Given the description of an element on the screen output the (x, y) to click on. 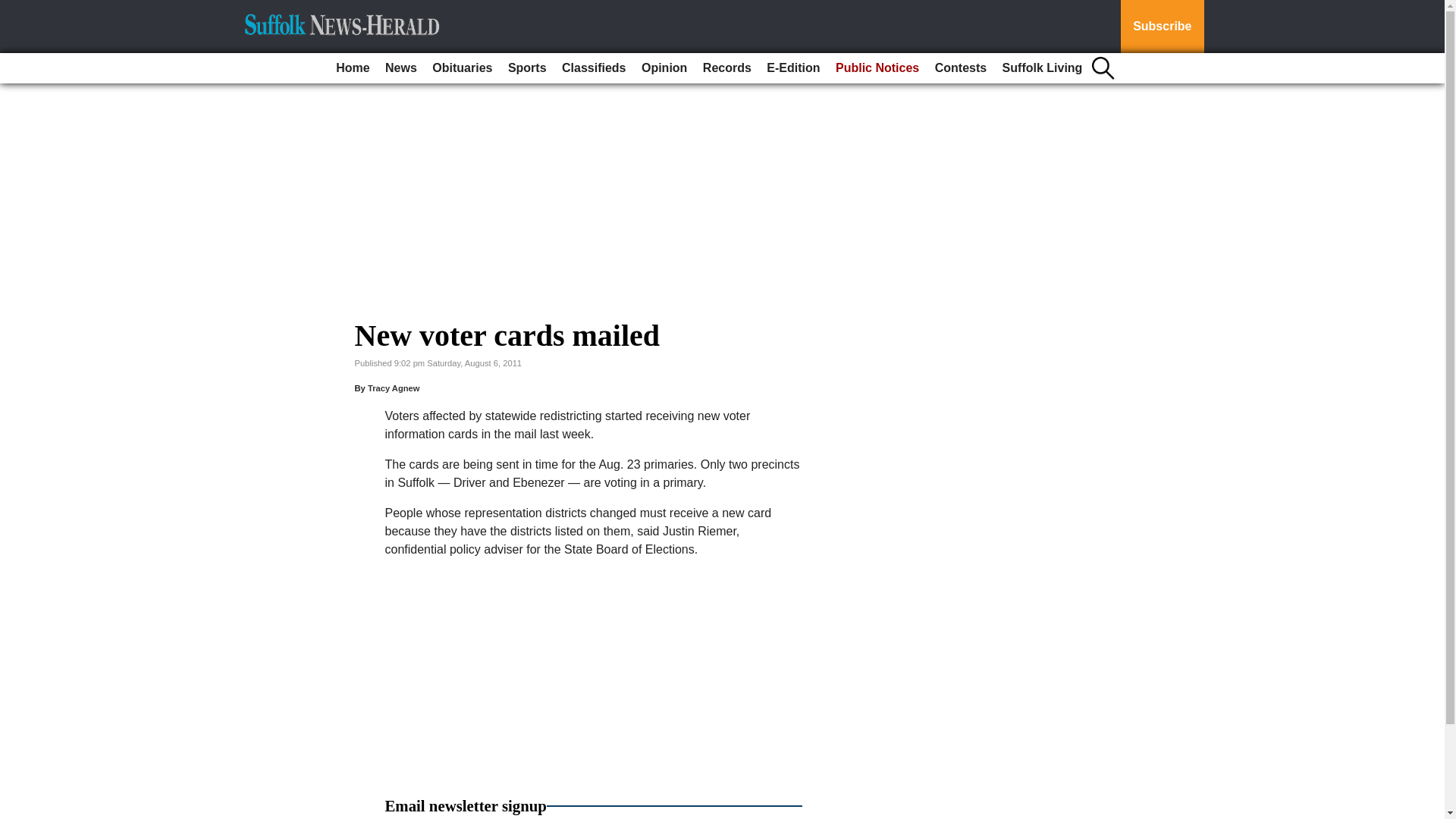
Obituaries (461, 68)
Suffolk Living (1042, 68)
Classifieds (593, 68)
Go (13, 9)
Contests (960, 68)
Tracy Agnew (394, 388)
Subscribe (1162, 26)
Home (352, 68)
News (400, 68)
Public Notices (876, 68)
